Given the description of an element on the screen output the (x, y) to click on. 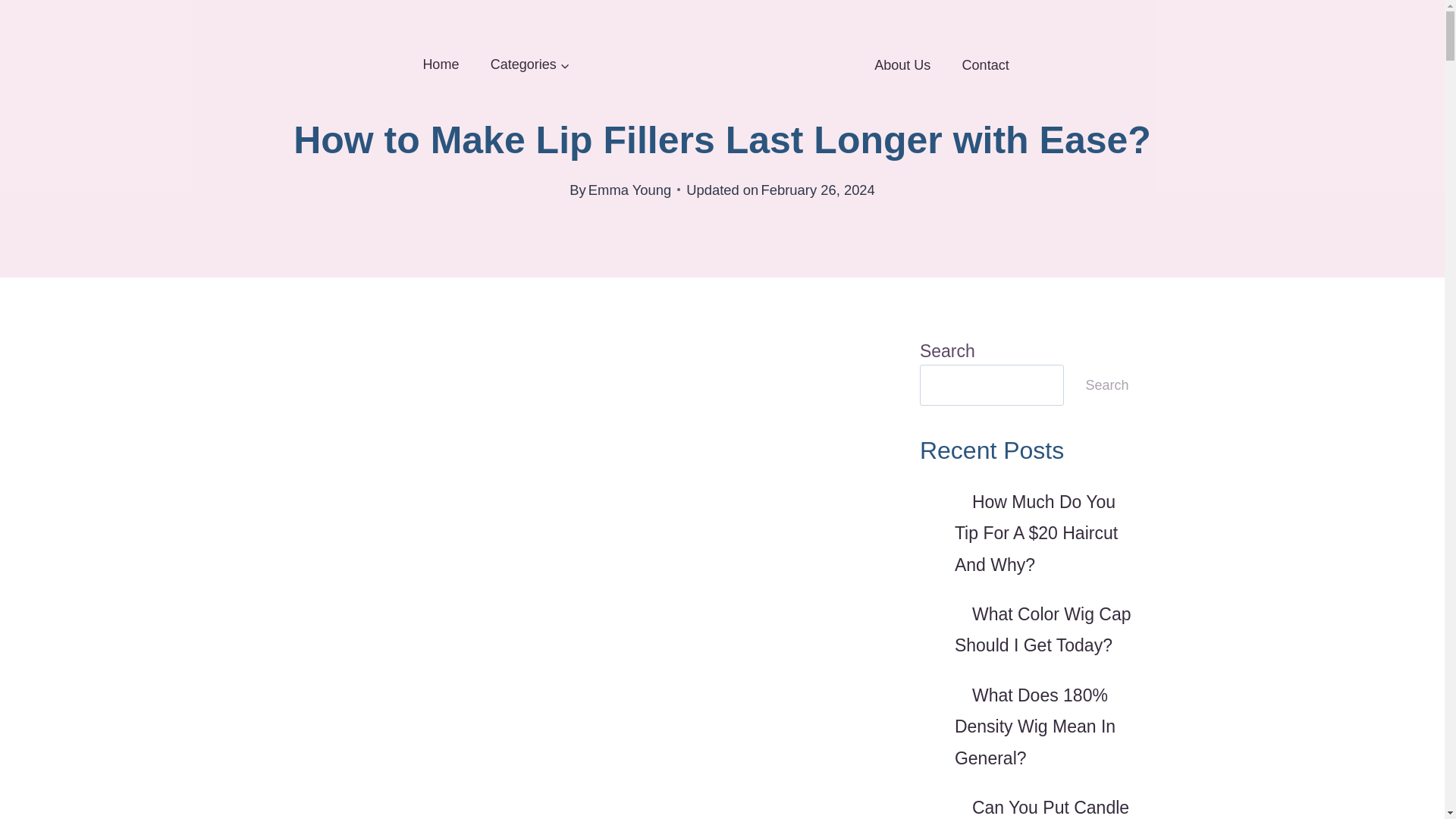
Emma Young (629, 189)
Home (440, 64)
Contact (985, 64)
About Us (901, 64)
Categories (529, 64)
